Given the description of an element on the screen output the (x, y) to click on. 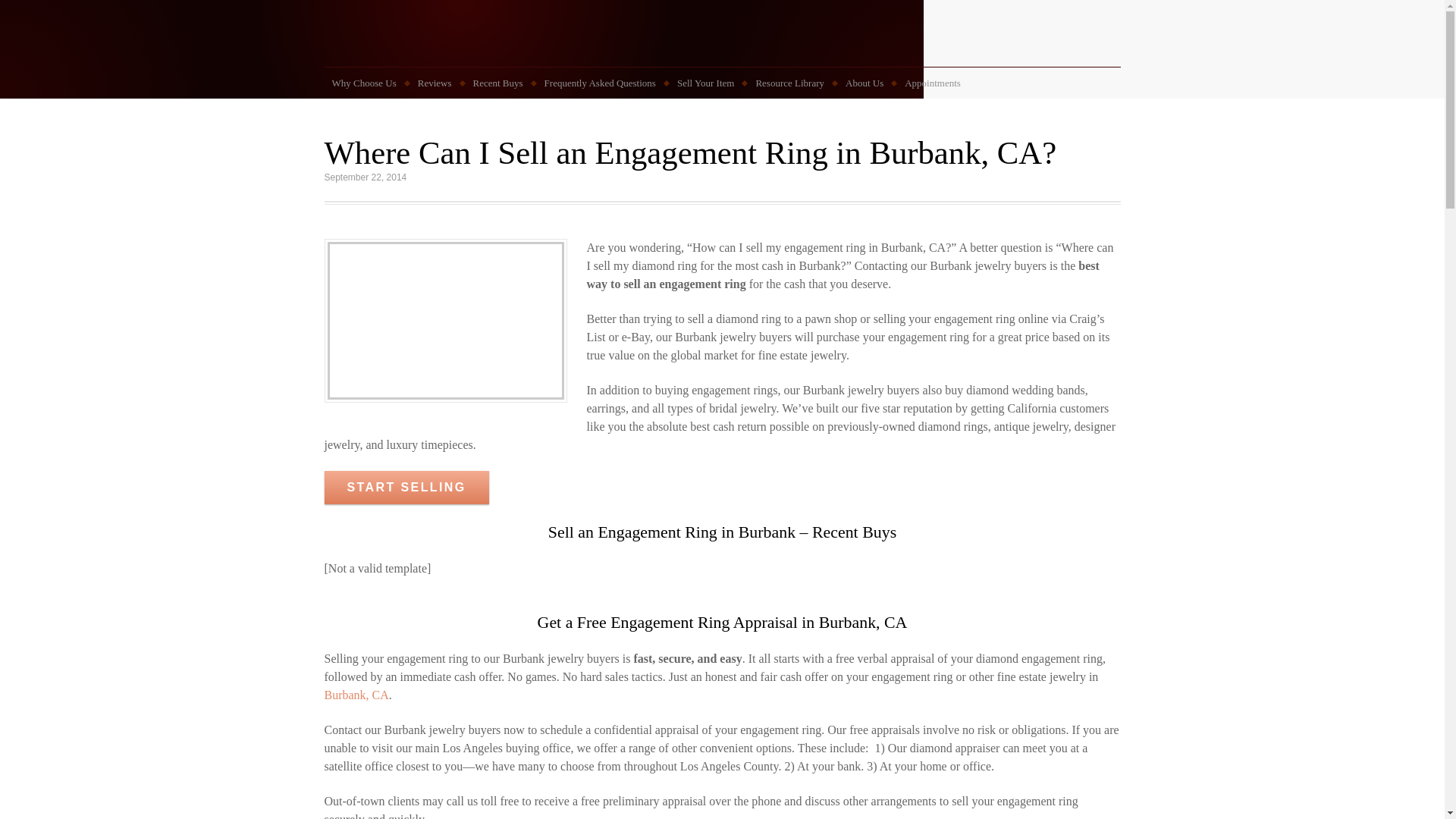
Contact Los Angeles Jewelry Buyer (406, 486)
Recent Buys (498, 82)
Resource Library (789, 82)
START SELLING (406, 486)
Why Choose Us (364, 82)
Burbank, CA (356, 694)
About Us (864, 82)
Reviews (435, 82)
Go back to the homepage (722, 40)
Sell Your Item (705, 82)
